Given the description of an element on the screen output the (x, y) to click on. 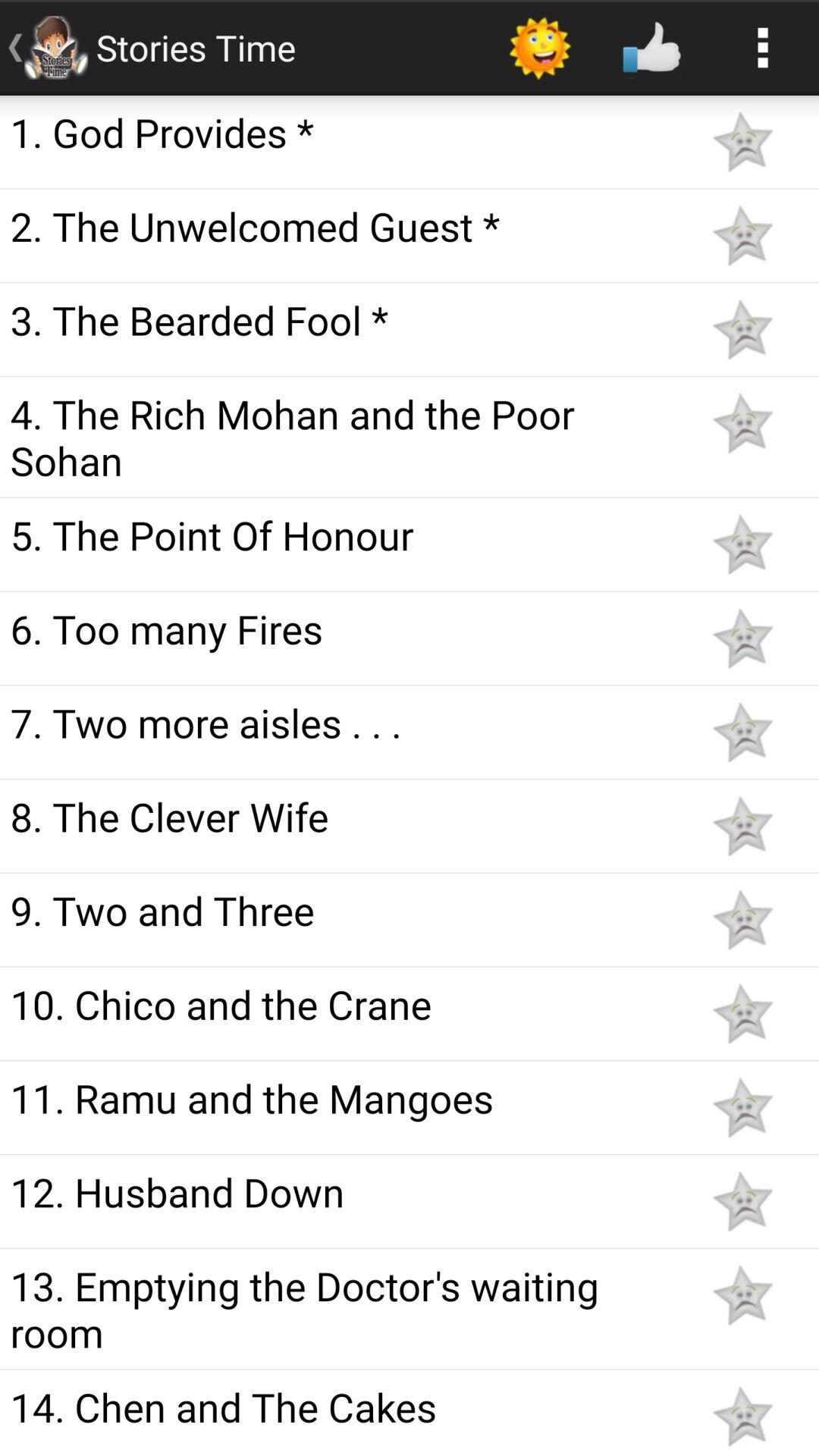
choose the 11 ramu and app (343, 1097)
